Given the description of an element on the screen output the (x, y) to click on. 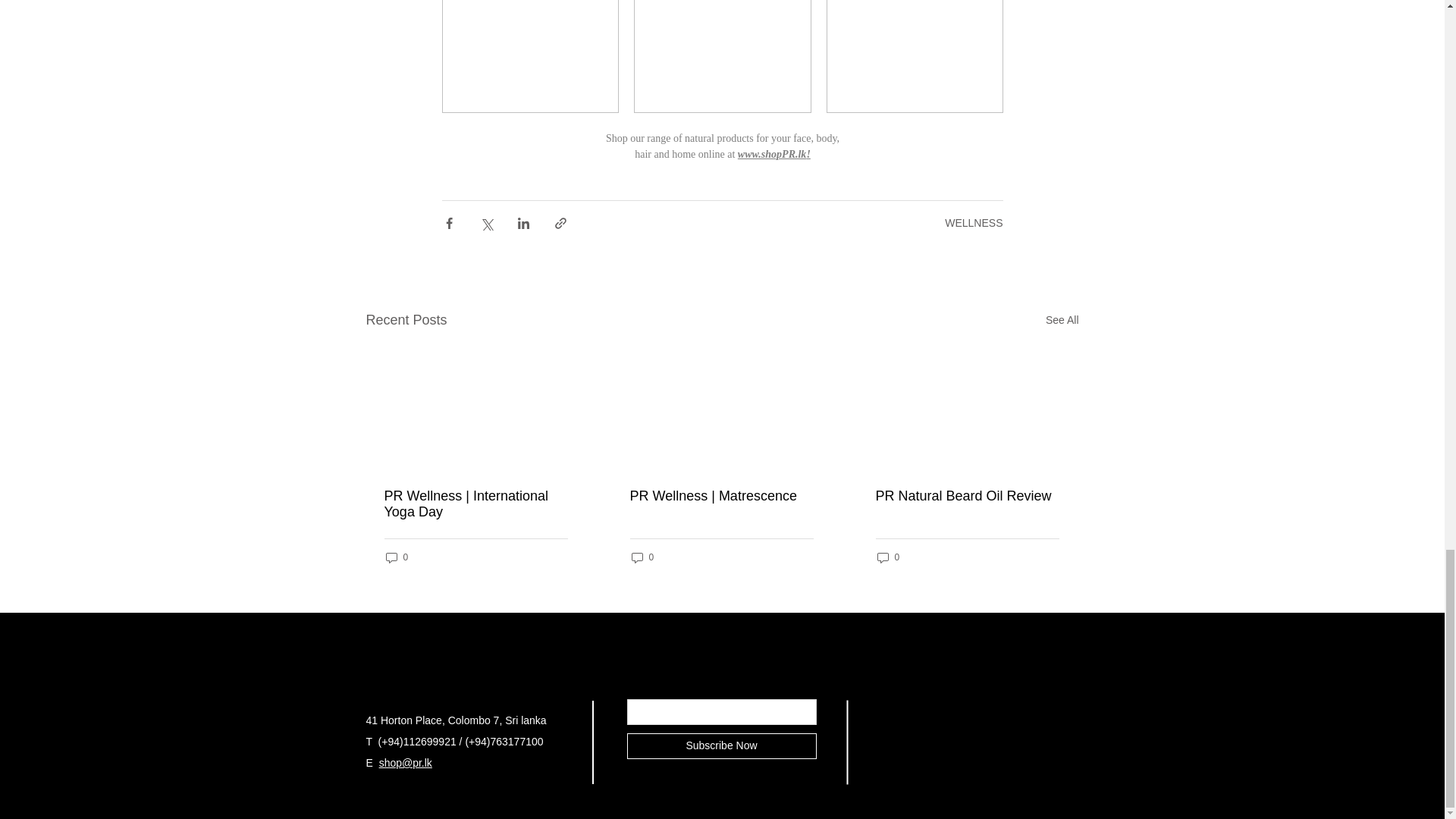
0 (888, 557)
See All (1061, 320)
0 (641, 557)
0 (396, 557)
WELLNESS (973, 223)
Subscribe Now (720, 746)
PR Natural Beard Oil Review (966, 496)
www.shopPR.lk (771, 153)
